Given the description of an element on the screen output the (x, y) to click on. 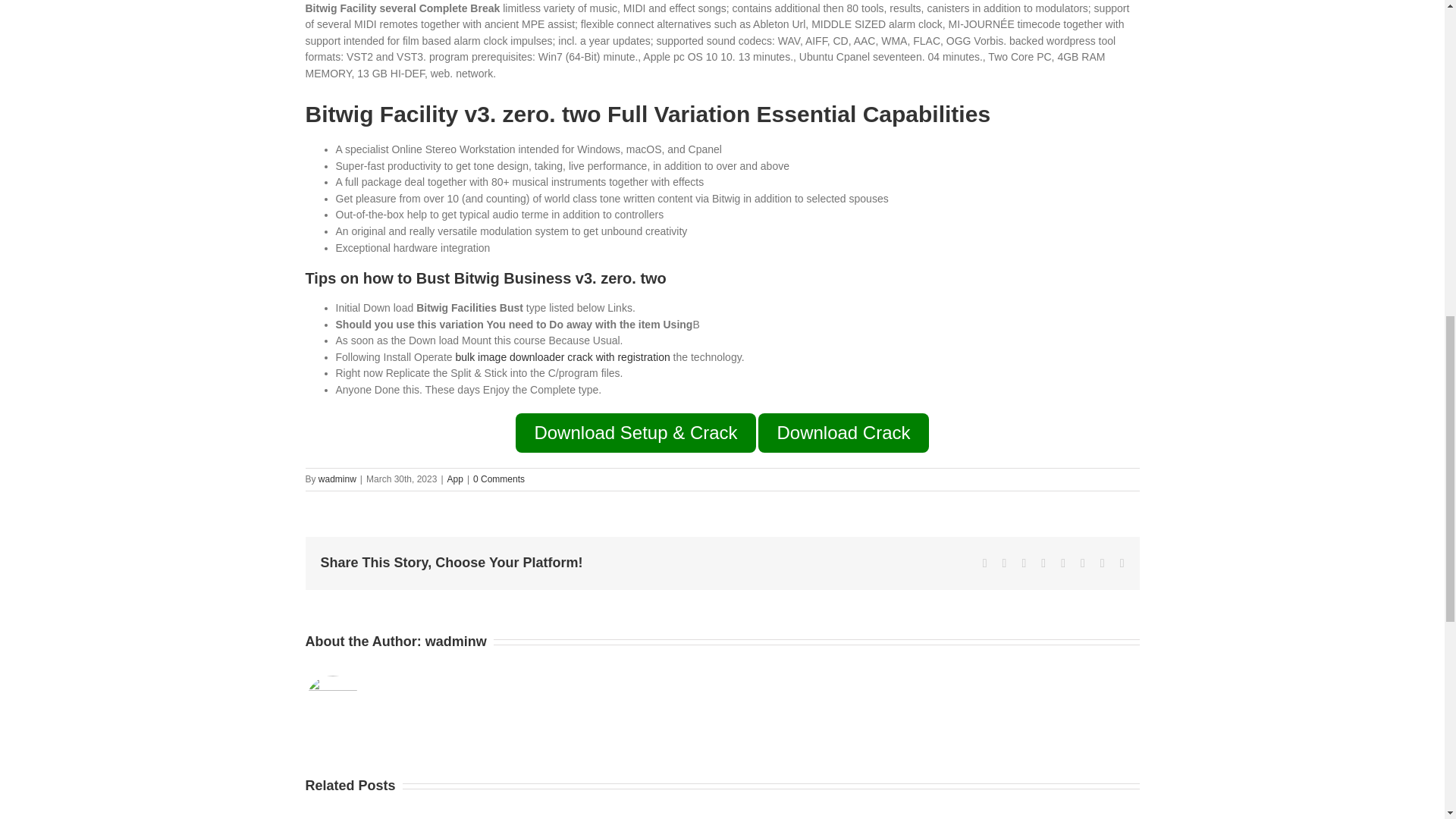
Posts by wadminw (455, 641)
bulk image downloader crack with registration (561, 357)
Posts by wadminw (337, 479)
